Given the description of an element on the screen output the (x, y) to click on. 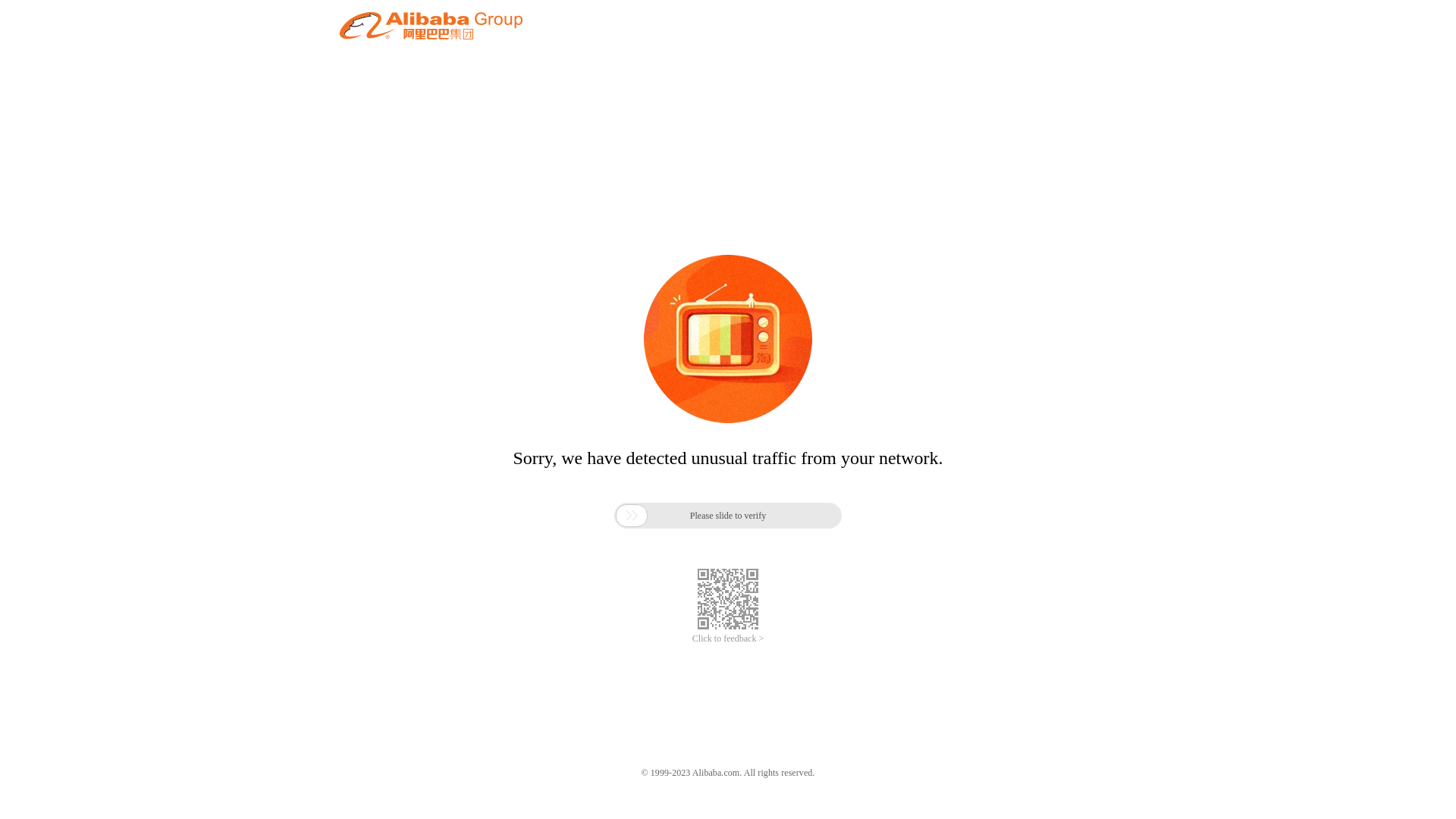
Click to feedback > Element type: text (727, 638)
